Given the description of an element on the screen output the (x, y) to click on. 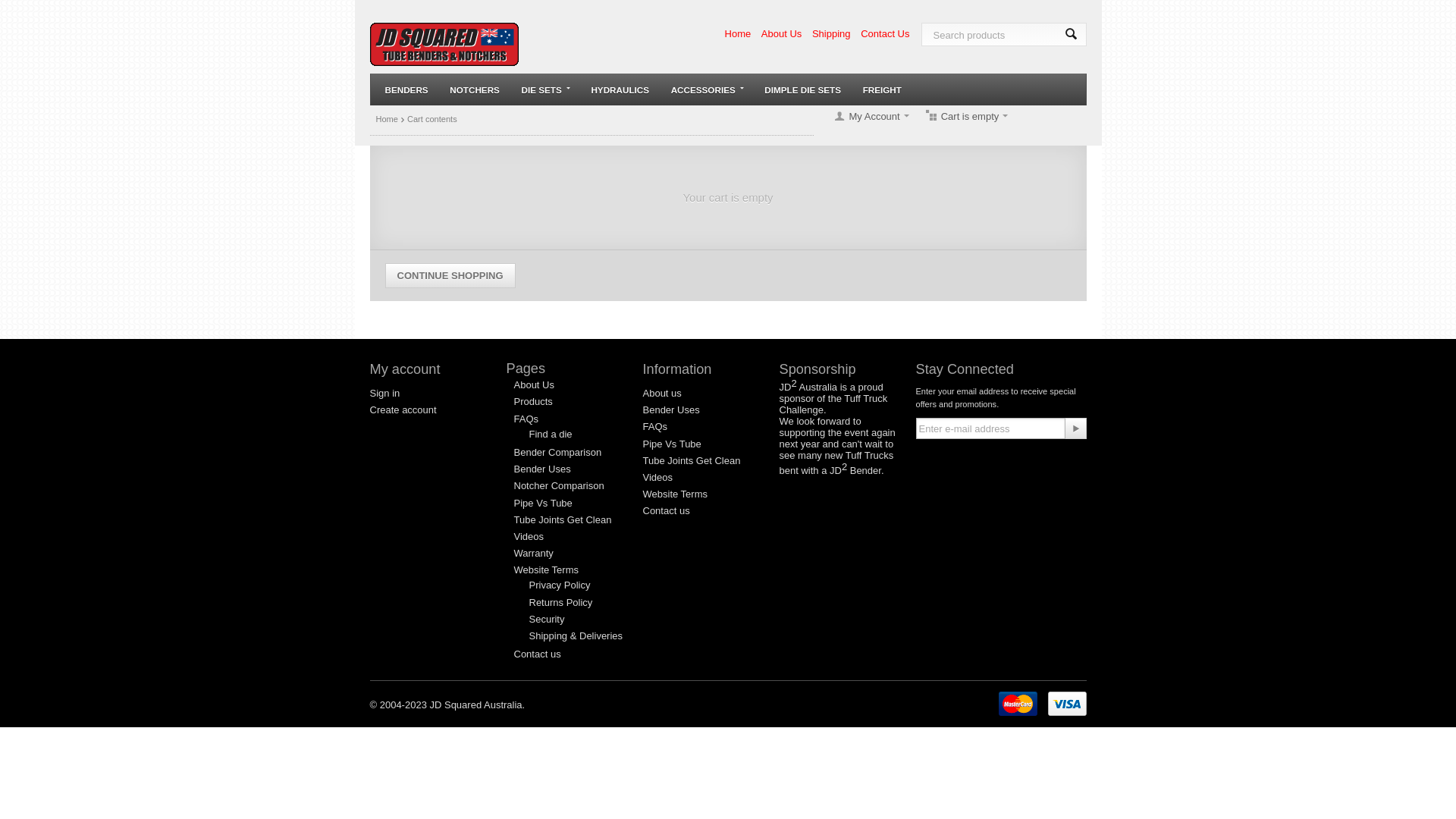
Videos Element type: text (658, 477)
Shipping Element type: text (831, 33)
Sign in Element type: text (385, 392)
Contact us Element type: text (537, 653)
CONTINUE SHOPPING Element type: text (449, 275)
Tube Joints Get Clean Element type: text (562, 519)
Bender Uses Element type: text (671, 409)
Pages Element type: text (526, 368)
HYDRAULICS Element type: text (619, 89)
Contact us Element type: text (666, 510)
DIMPLE DIE SETS Element type: text (802, 89)
Videos Element type: text (529, 536)
My Account Element type: text (866, 116)
Create account Element type: text (403, 409)
Website Terms Element type: text (675, 493)
FAQs Element type: text (655, 426)
Returns Policy Element type: text (561, 602)
Bender Comparison Element type: text (558, 452)
Search Element type: hover (1070, 34)
JD Squared Australia Element type: hover (444, 47)
Notcher Comparison Element type: text (559, 485)
Go Element type: hover (1074, 428)
Tuff Truck Challenge Element type: text (833, 403)
Search products Element type: hover (1002, 34)
Cart is empty Element type: text (965, 116)
DIE SETS Element type: text (545, 89)
ACCESSORIES Element type: text (706, 89)
FAQs Element type: text (526, 418)
NOTCHERS Element type: text (474, 89)
Bender Uses Element type: text (542, 468)
Shipping & Deliveries Element type: text (576, 635)
Tube Joints Get Clean Element type: text (691, 460)
Products Element type: text (533, 401)
BENDERS Element type: text (406, 89)
Home Element type: text (737, 33)
Warranty Element type: text (533, 552)
Privacy Policy Element type: text (559, 584)
Website Terms Element type: text (546, 569)
Pipe Vs Tube Element type: text (672, 443)
FREIGHT Element type: text (882, 89)
Home Element type: text (386, 118)
About Us Element type: text (534, 384)
Pipe Vs Tube Element type: text (543, 502)
Find a die Element type: text (550, 433)
About us Element type: text (662, 392)
About Us Element type: text (781, 33)
Security Element type: text (546, 618)
Contact Us Element type: text (884, 33)
